Given the description of an element on the screen output the (x, y) to click on. 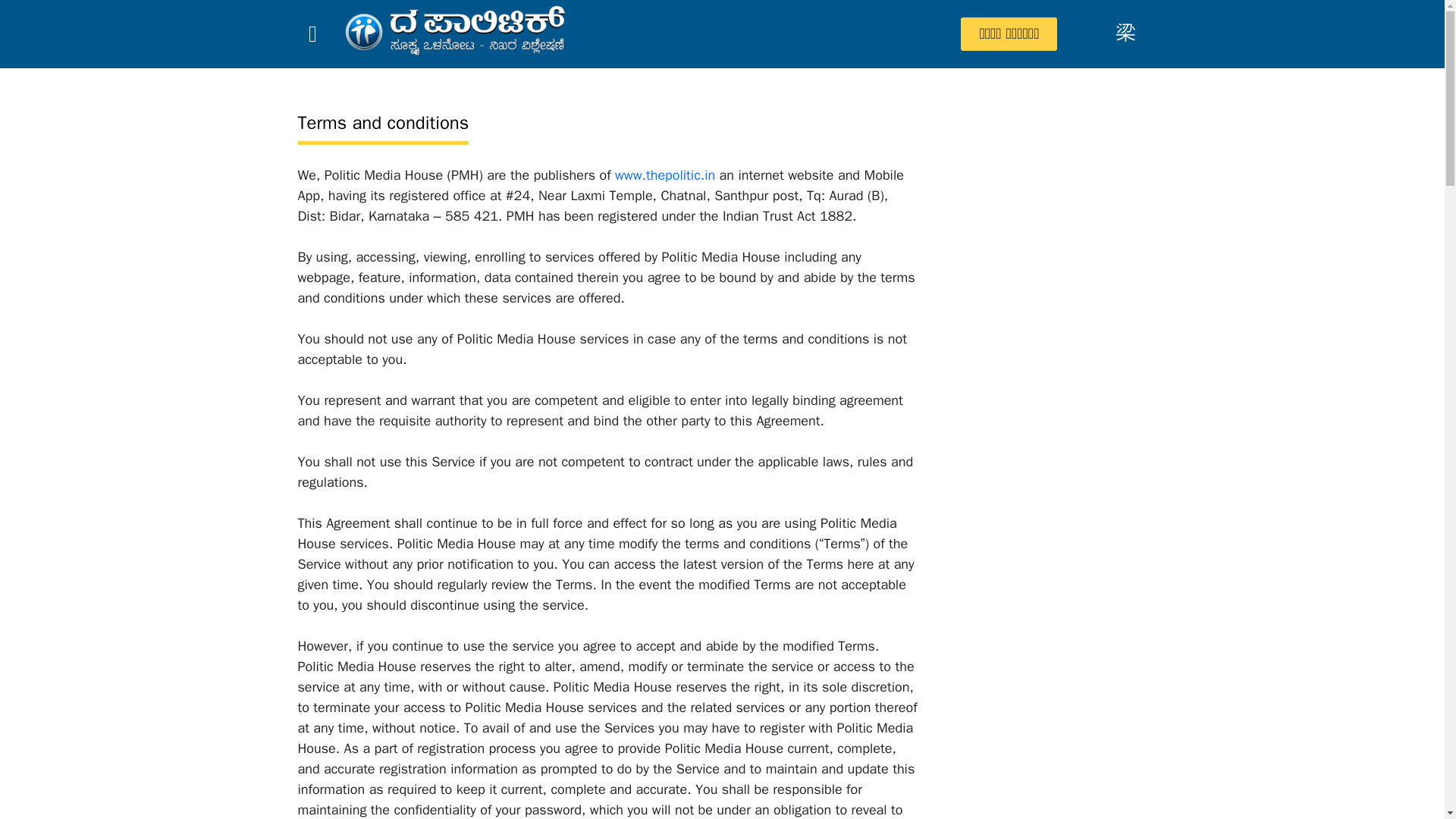
www.thepolitic.in (664, 175)
